Given the description of an element on the screen output the (x, y) to click on. 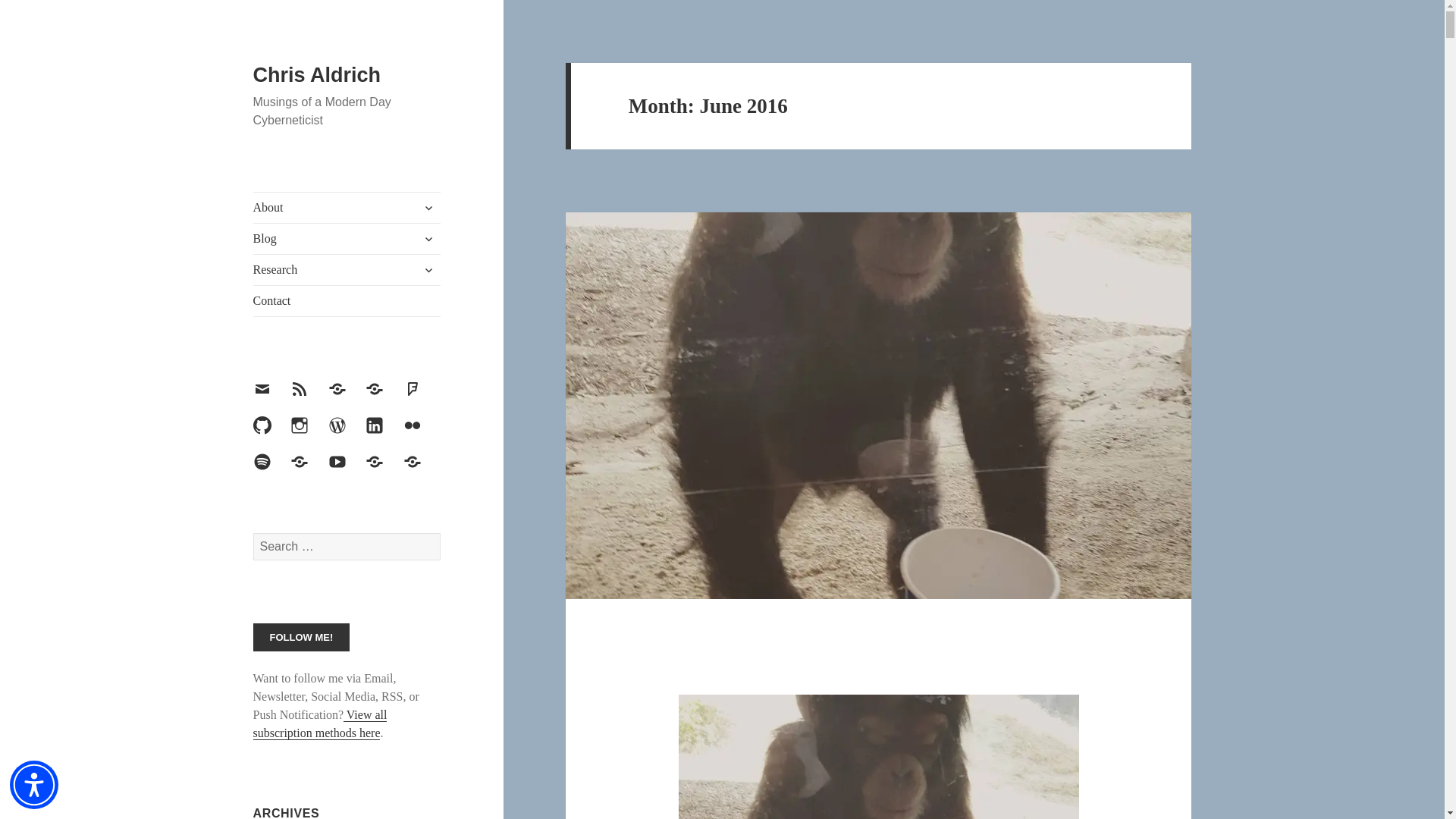
Blog (347, 238)
expand child menu (428, 238)
expand child menu (428, 207)
About (347, 207)
Follow Me! (301, 637)
Chris Aldrich (317, 74)
